Given the description of an element on the screen output the (x, y) to click on. 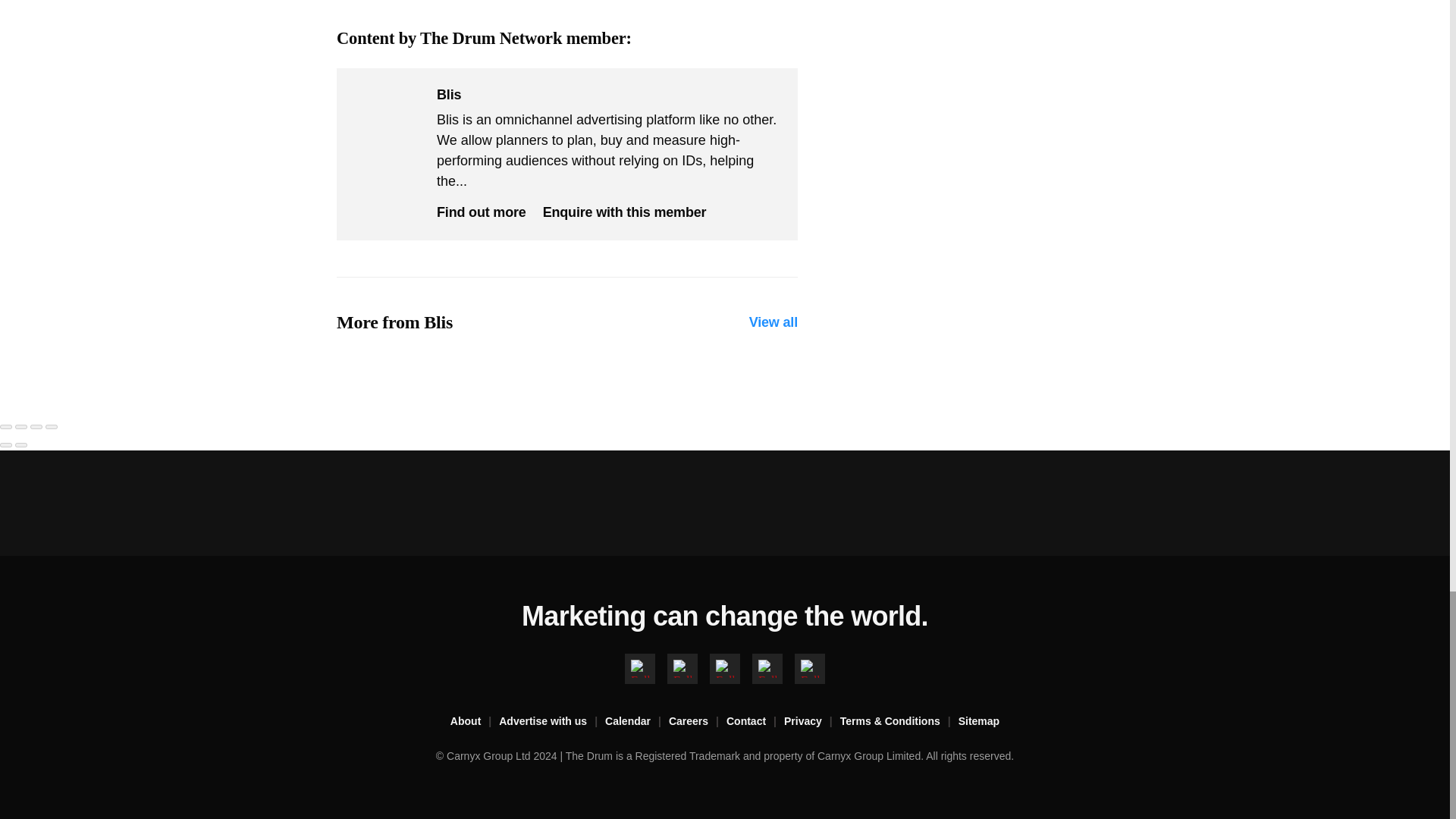
Find out more (480, 212)
Enquire with this member (624, 212)
About (474, 721)
Calendar (636, 721)
Toggle fullscreen (36, 427)
Advertise with us (552, 721)
View all (773, 322)
Share (20, 427)
